Given the description of an element on the screen output the (x, y) to click on. 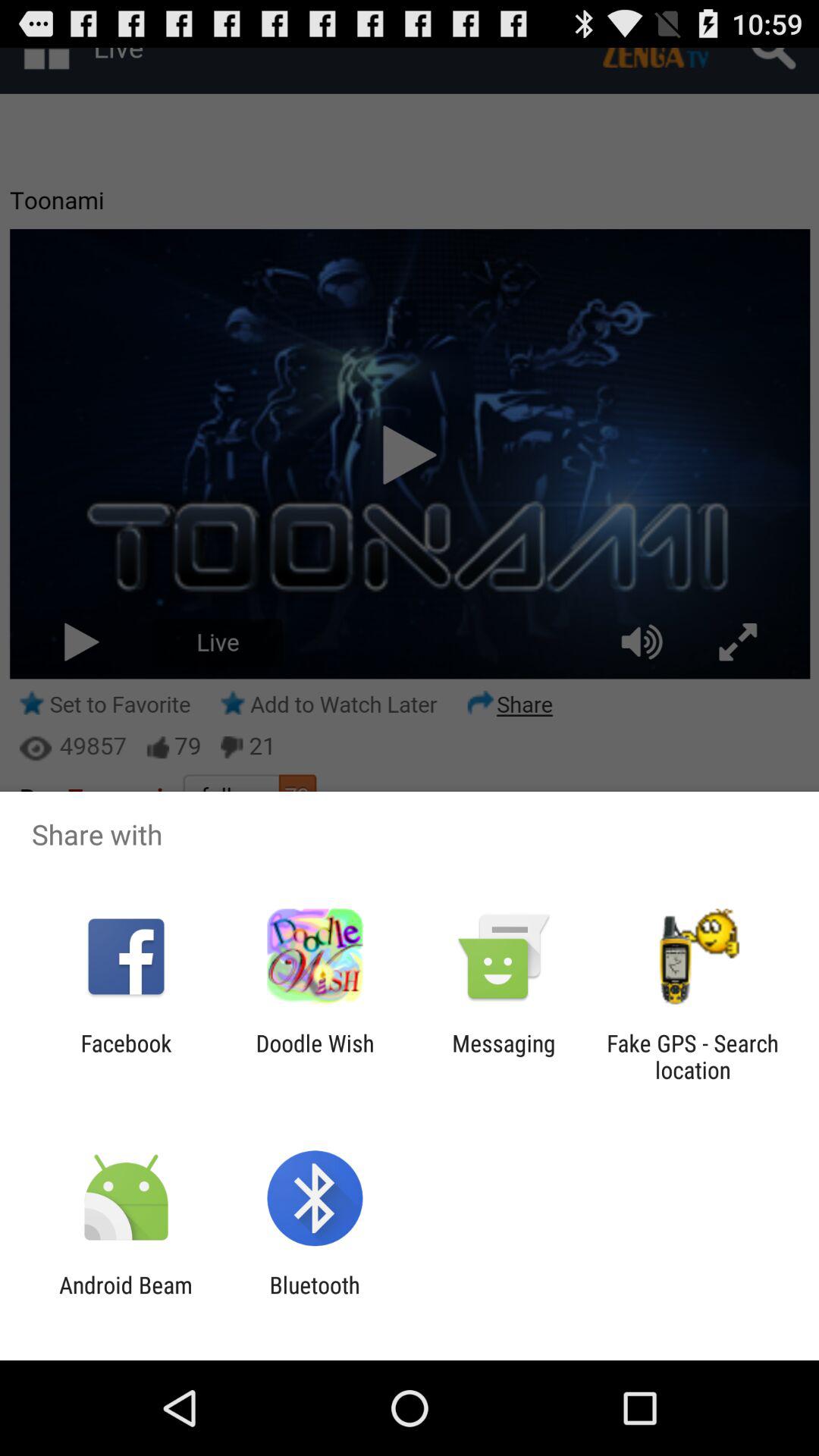
turn on the app to the left of the doodle wish icon (125, 1056)
